Given the description of an element on the screen output the (x, y) to click on. 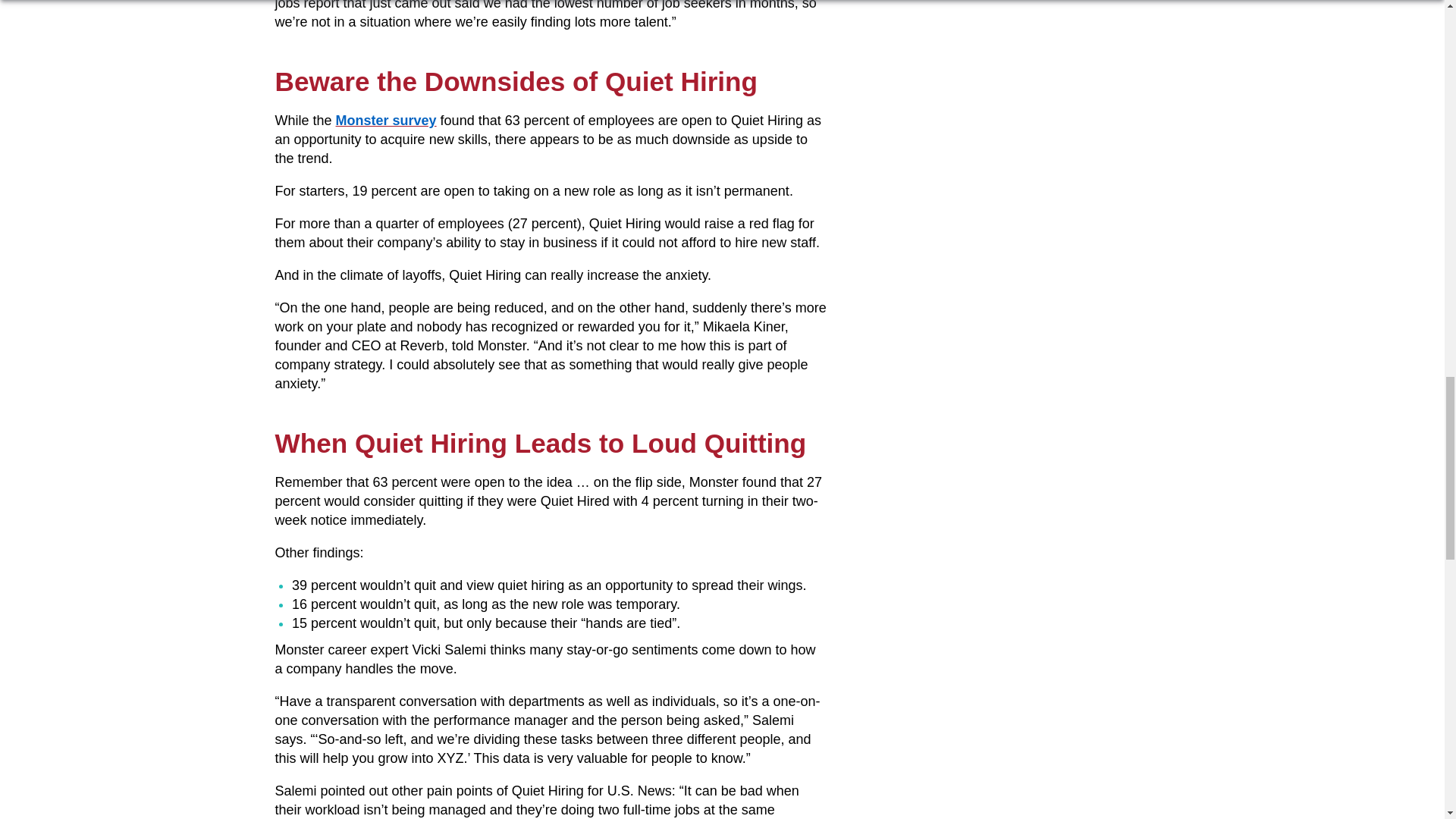
Monster survey (386, 120)
